Given the description of an element on the screen output the (x, y) to click on. 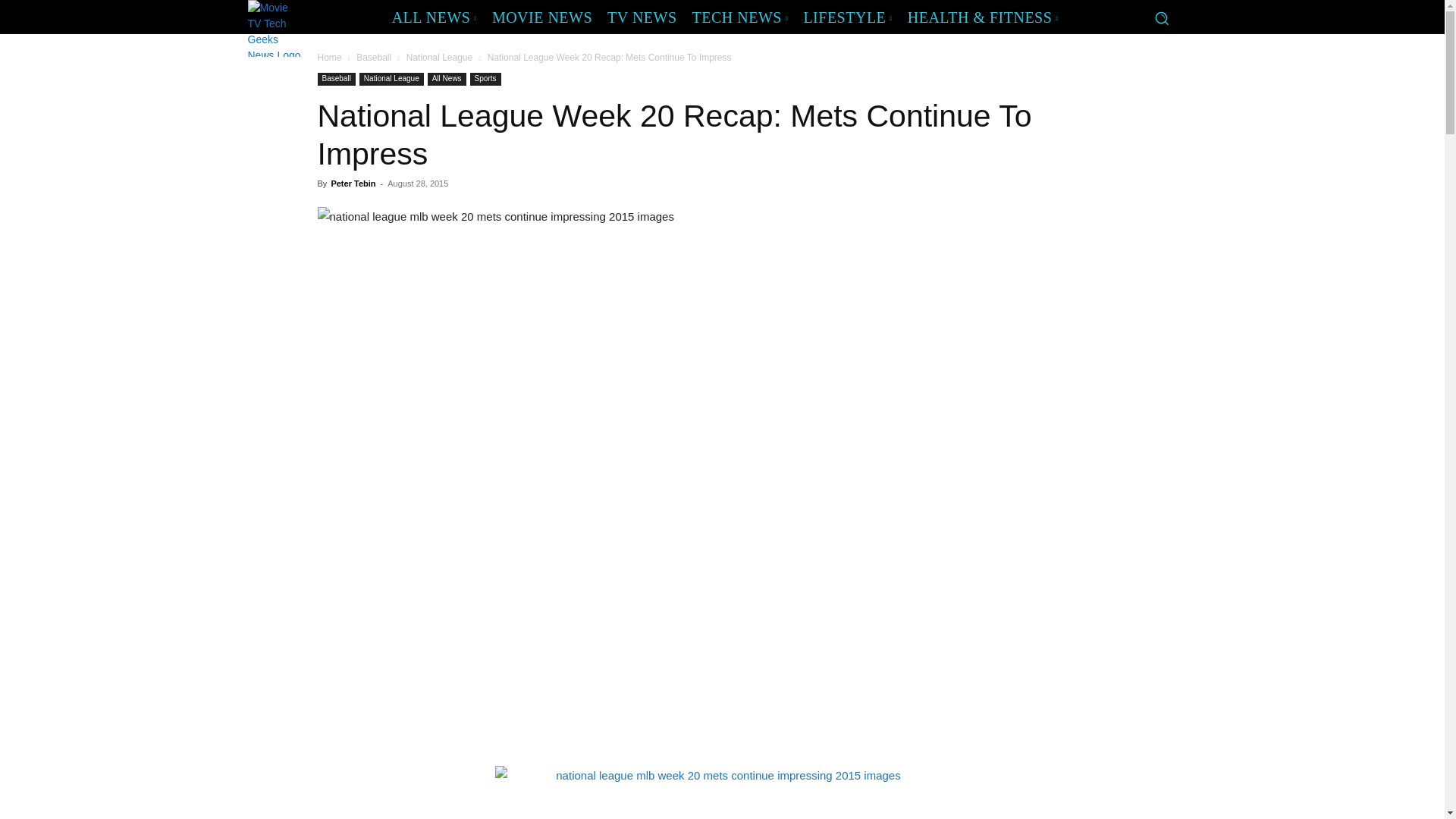
TV NEWS (641, 17)
Sports (485, 78)
Movie TV Tech Geeks News Logo (274, 28)
View all posts in Baseball (373, 57)
Baseball (336, 78)
Baseball (373, 57)
Home (328, 57)
National League (438, 57)
TECH NEWS (740, 17)
